Given the description of an element on the screen output the (x, y) to click on. 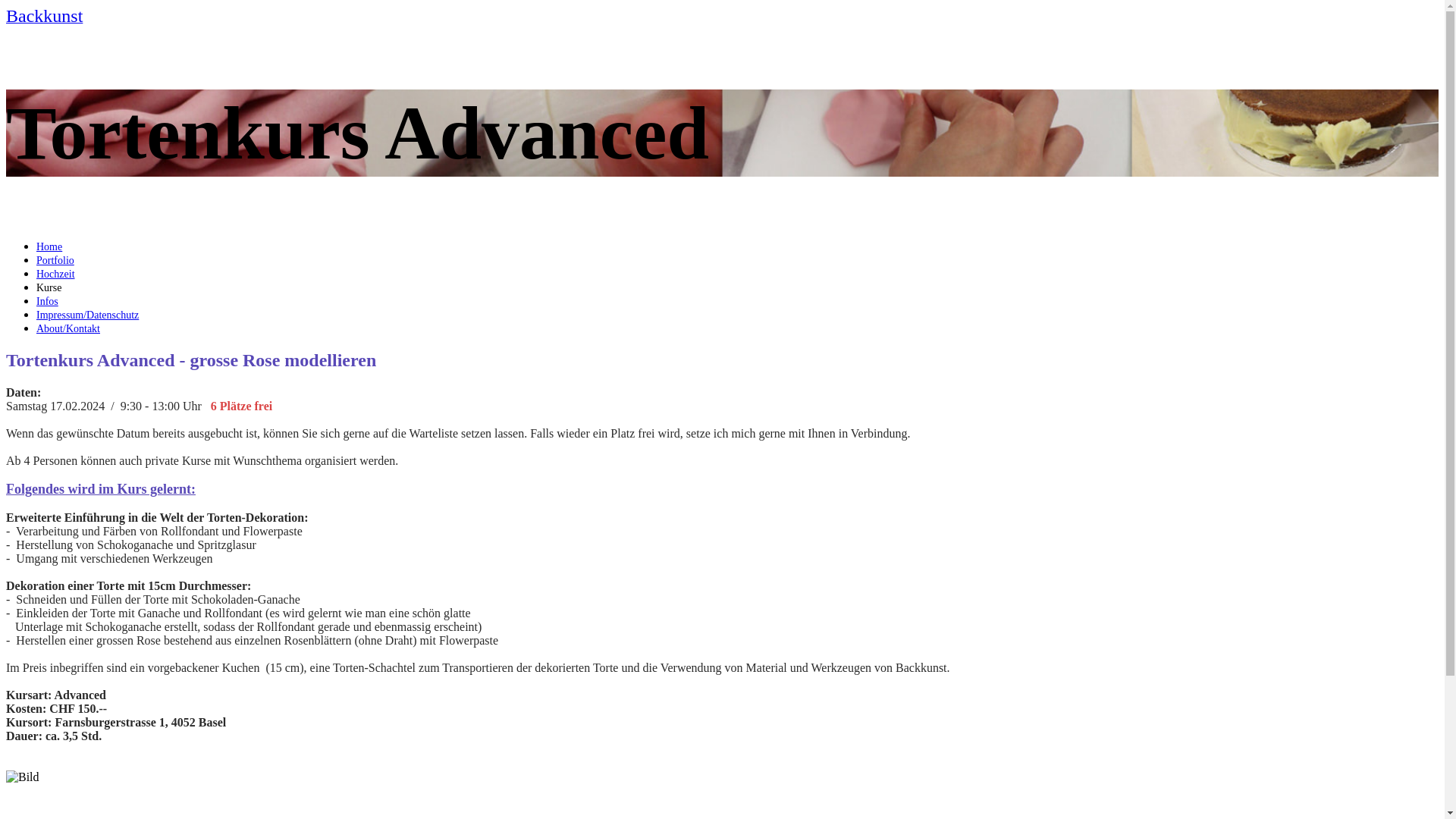
Hochzeit Element type: text (55, 273)
Backkunst Element type: text (44, 17)
Impressum/Datenschutz Element type: text (87, 314)
Home Element type: text (49, 246)
Portfolio Element type: text (55, 260)
Kurse Element type: text (48, 287)
About/Kontakt Element type: text (68, 328)
Infos Element type: text (47, 301)
